Given the description of an element on the screen output the (x, y) to click on. 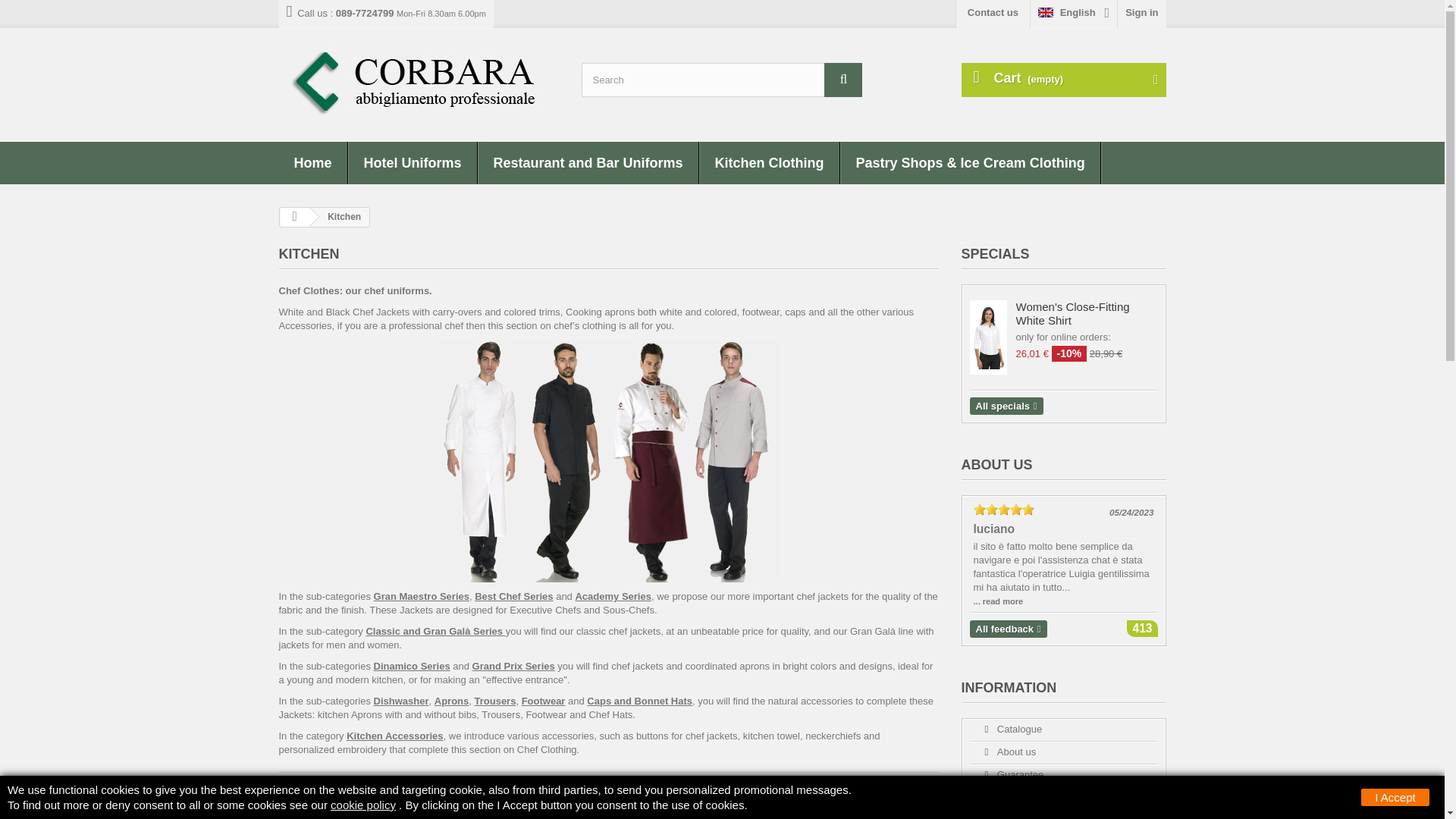
Hotel Uniforms (413, 162)
Home (313, 162)
Contact us (992, 13)
Sign in (1142, 13)
Contact us (992, 13)
View my shopping cart (1063, 80)
Home (313, 162)
corbaraweb (419, 81)
Log in to your customer account (1142, 13)
Hotel Uniforms (413, 162)
